Given the description of an element on the screen output the (x, y) to click on. 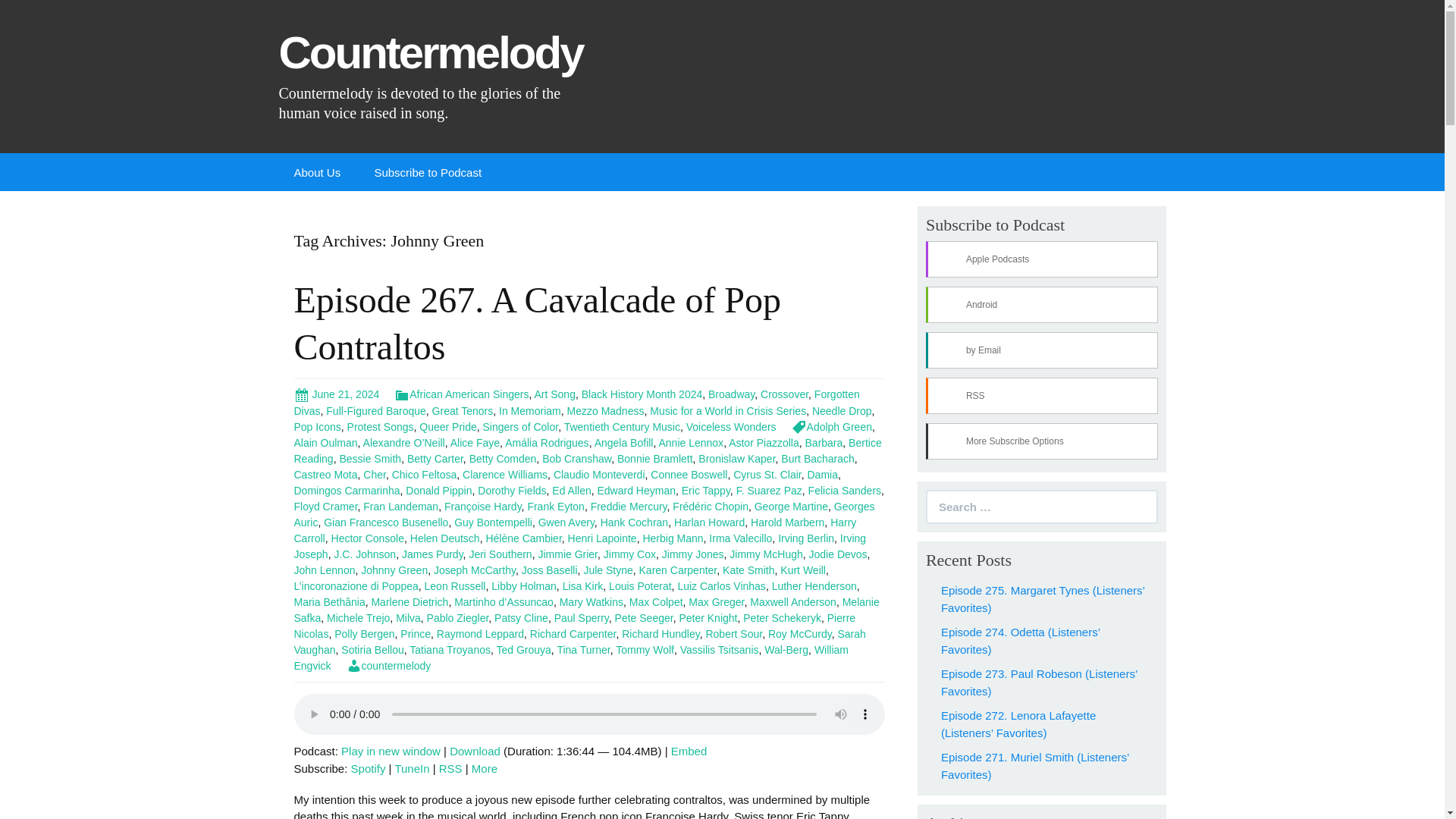
More (484, 768)
African American Singers (461, 394)
Bonnie Bramlett (655, 458)
Mezzo Madness (606, 410)
Bessie Smith (370, 458)
Annie Lennox (690, 442)
Music for a World in Crisis Series (727, 410)
Countermelody (435, 68)
Angela Bofill (623, 442)
Subscribe on TuneIn (411, 768)
Permalink to Episode 267. A Cavalcade of Pop Contraltos (337, 394)
Download (474, 750)
Episode 267. A Cavalcade of Pop Contraltos (537, 323)
Full-Figured Baroque (376, 410)
